Given the description of an element on the screen output the (x, y) to click on. 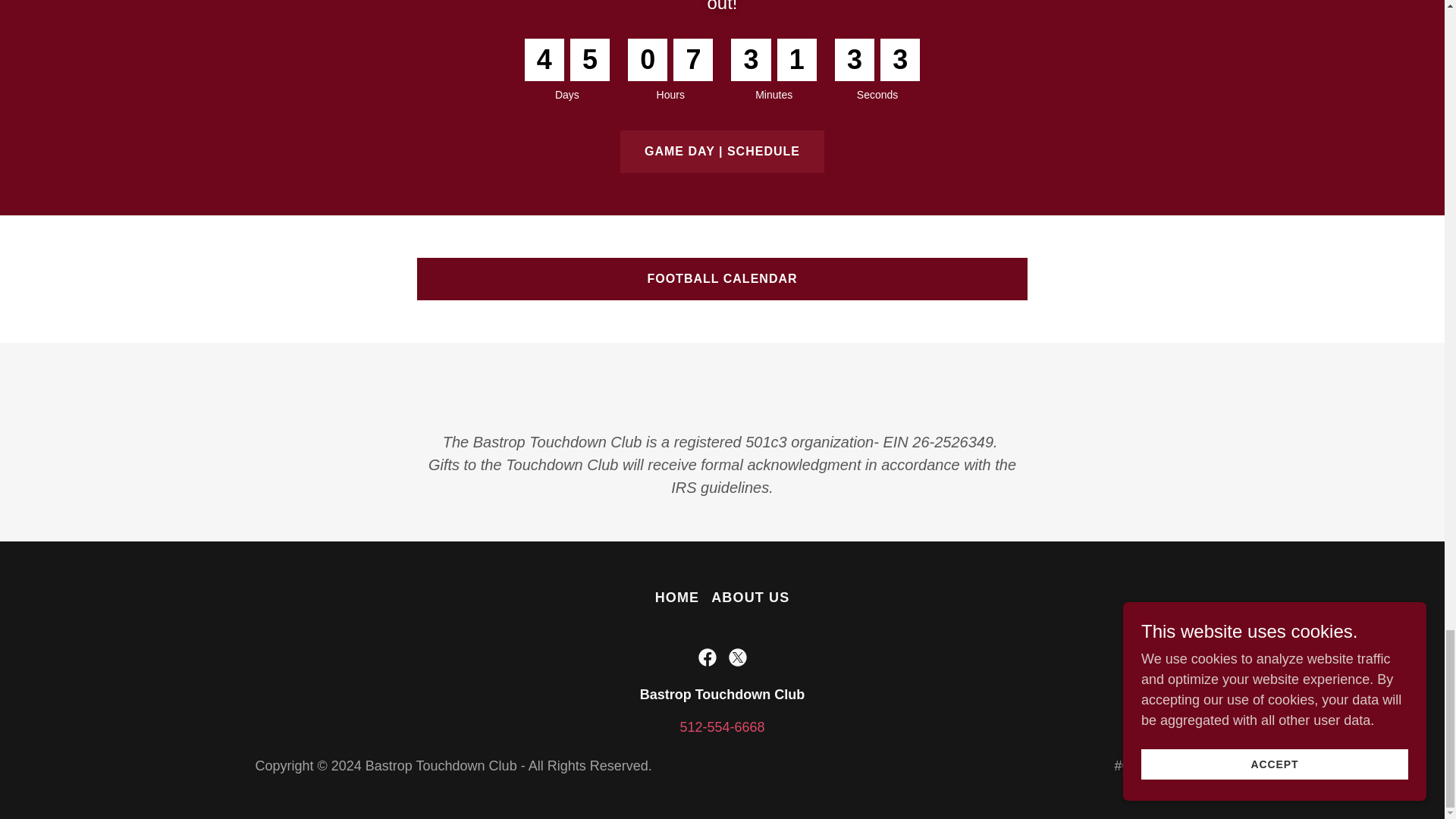
ABOUT US (749, 597)
FOOTBALL CALENDAR (721, 278)
HOME (677, 597)
